Given the description of an element on the screen output the (x, y) to click on. 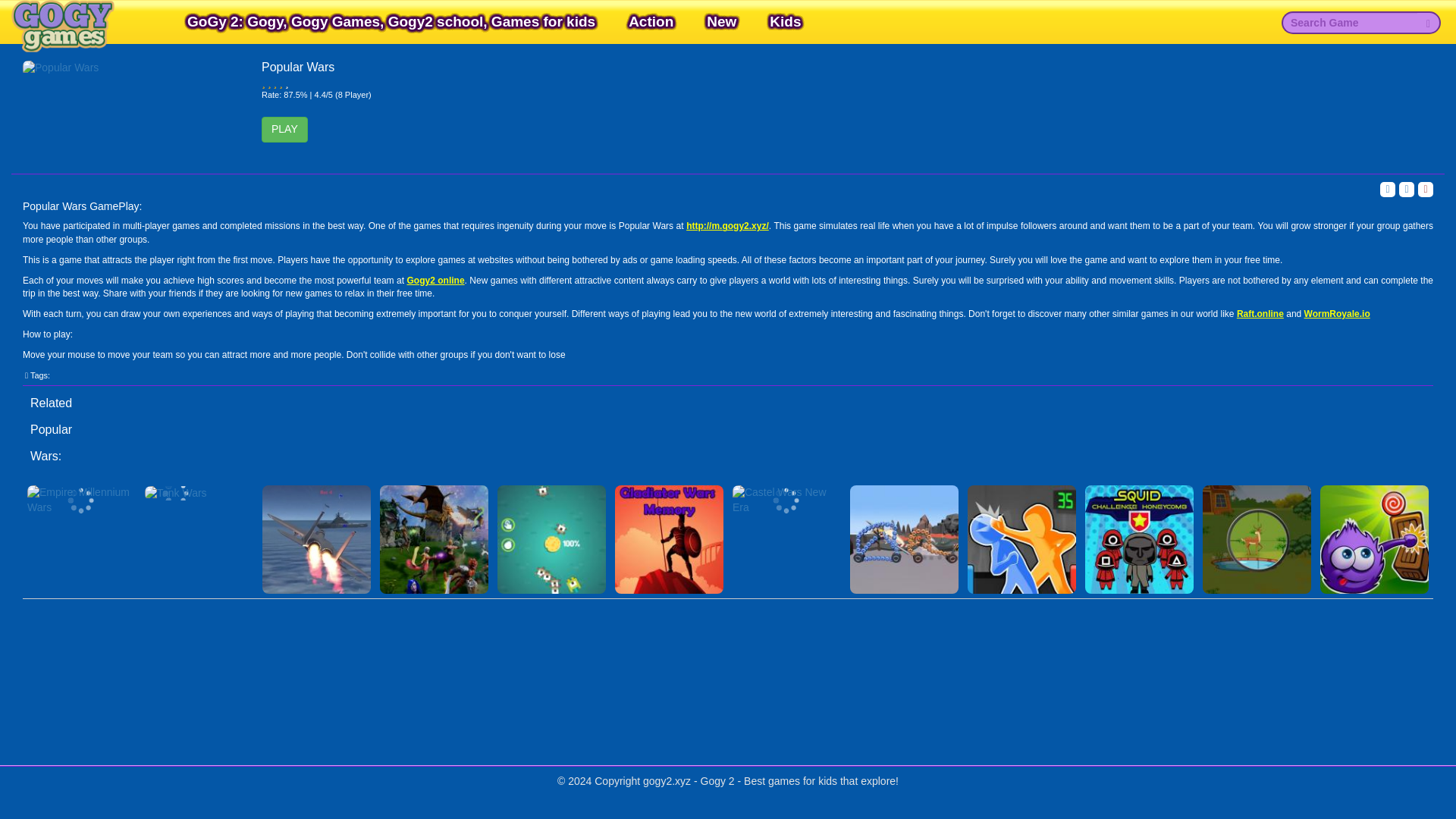
Robot Wars (903, 539)
WormRoyale.io (1337, 313)
PLAY (284, 129)
Cheesy Wars (551, 539)
New (721, 22)
New (721, 22)
Gladiator Wars Memory (669, 539)
GoGy 2: Gogy, Gogy Games, Gogy2 school, Games for kids (391, 22)
Tank Wars (198, 492)
Deer Hunter 2D (1257, 539)
